Given the description of an element on the screen output the (x, y) to click on. 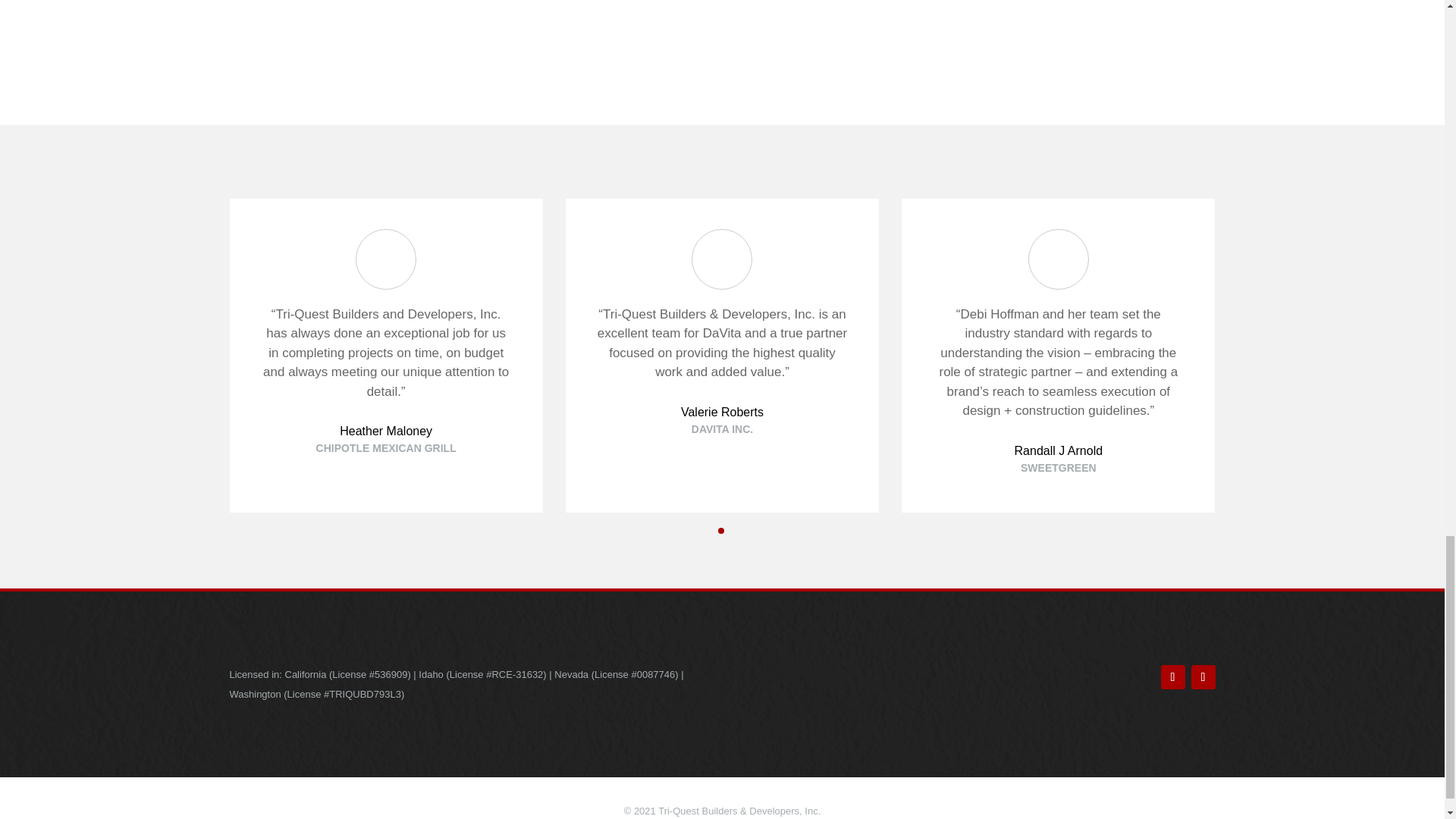
Follow on LinkedIn (1202, 677)
Heather Maloney (385, 431)
Randall J Arnold (1058, 450)
Valerie Roberts (721, 411)
Follow on Facebook (1172, 677)
